Given the description of an element on the screen output the (x, y) to click on. 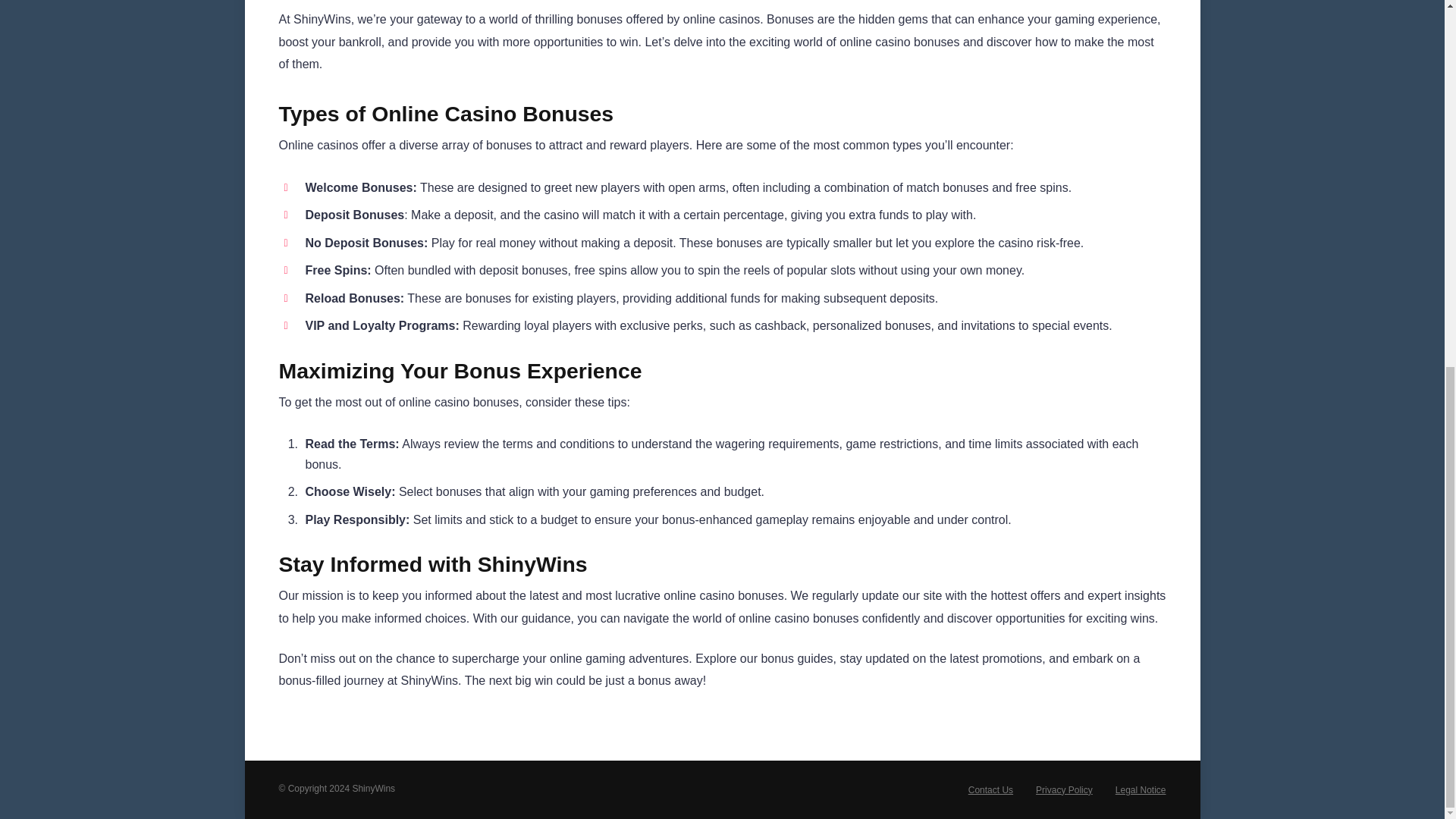
Privacy Policy (1064, 789)
Legal Notice (1140, 789)
Contact Us (990, 789)
